Given the description of an element on the screen output the (x, y) to click on. 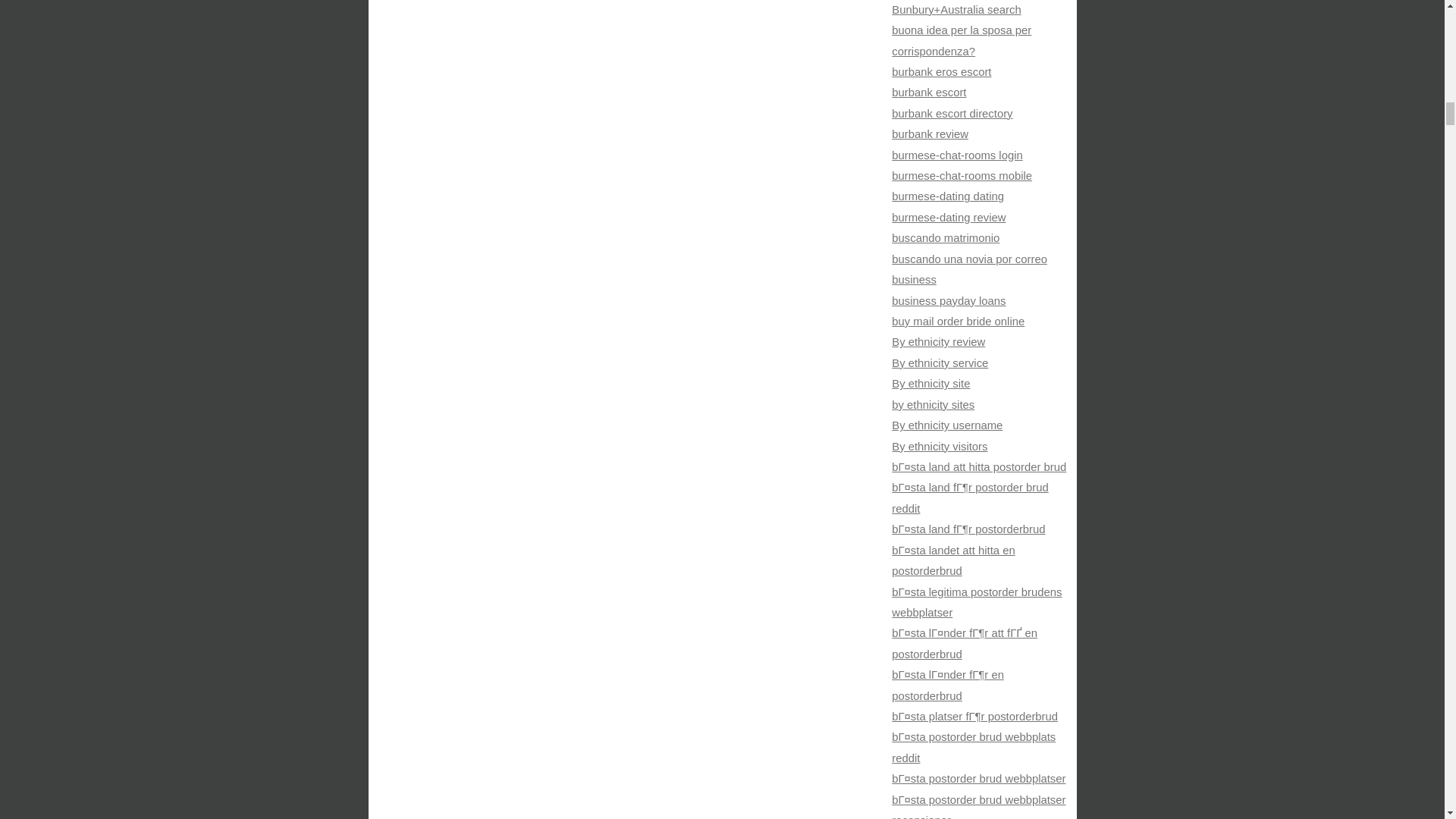
business (913, 279)
